Given the description of an element on the screen output the (x, y) to click on. 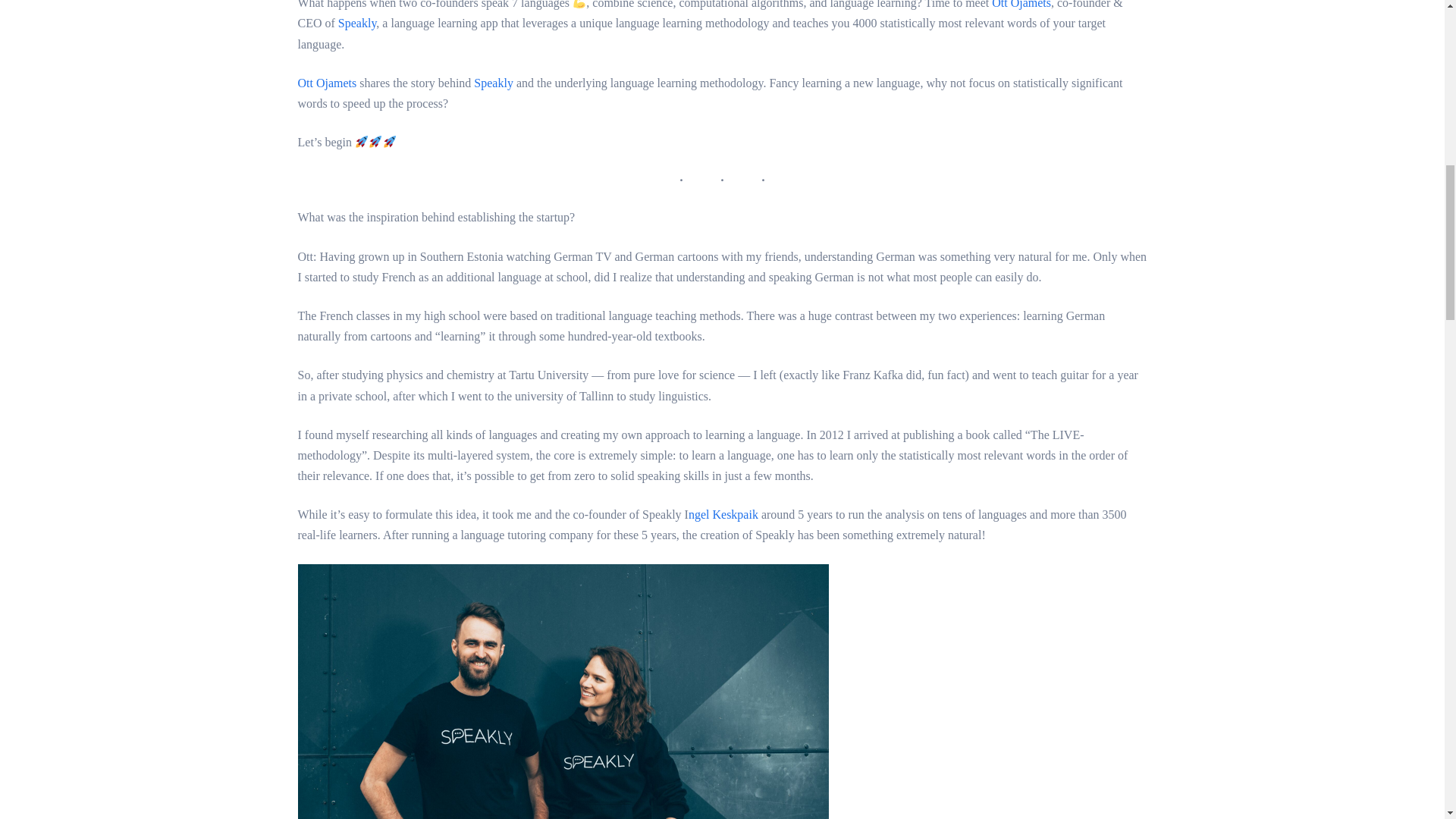
ngel Keskpaik (723, 513)
Ott Ojamets (326, 82)
Speakly (357, 22)
Ott Ojamets (1021, 4)
Speakly (493, 82)
